Given the description of an element on the screen output the (x, y) to click on. 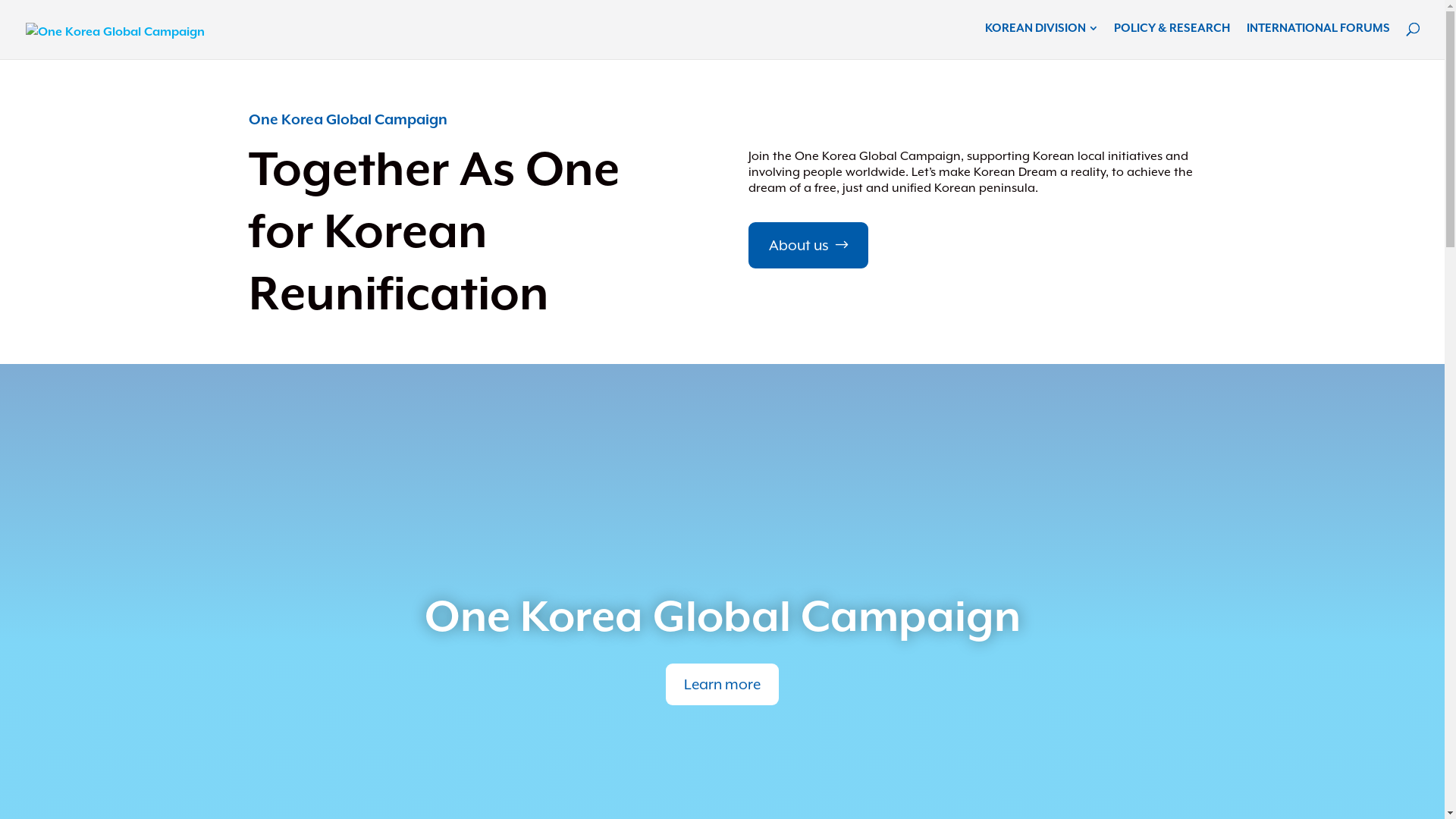
INTERNATIONAL FORUMS Element type: text (1318, 29)
About us Element type: text (808, 245)
POLICY & RESEARCH Element type: text (1171, 29)
One Korea Global Campaign Element type: text (722, 615)
KOREAN DIVISION Element type: text (1041, 29)
Learn more Element type: text (721, 684)
